Given the description of an element on the screen output the (x, y) to click on. 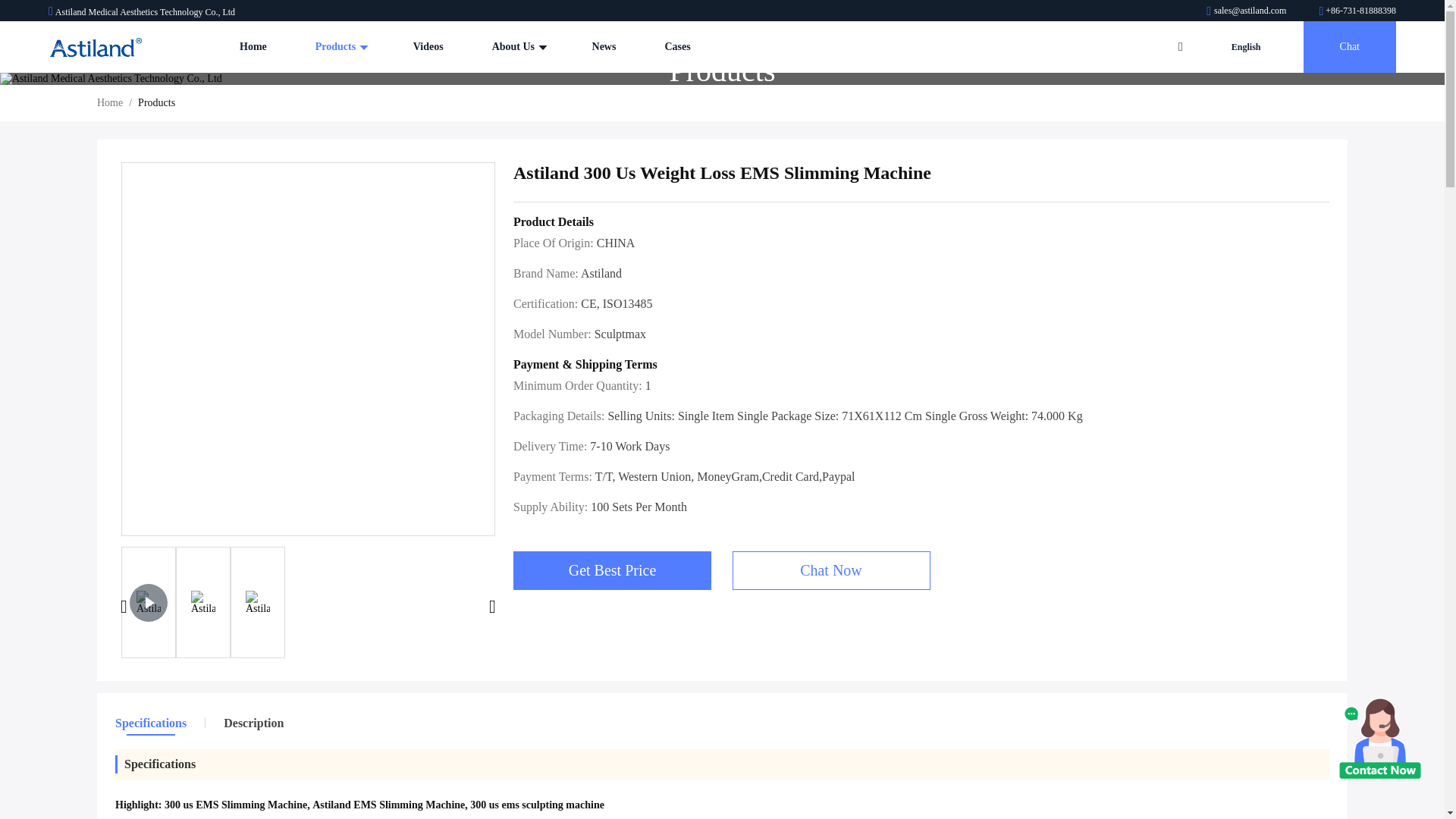
Astiland Medical Aesthetics Technology Co., Ltd (1247, 9)
About Us (517, 46)
Astiland Medical Aesthetics Technology Co., Ltd (96, 46)
Astiland Medical Aesthetics Technology Co., Ltd (1357, 9)
Products (340, 46)
Products (340, 46)
